Given the description of an element on the screen output the (x, y) to click on. 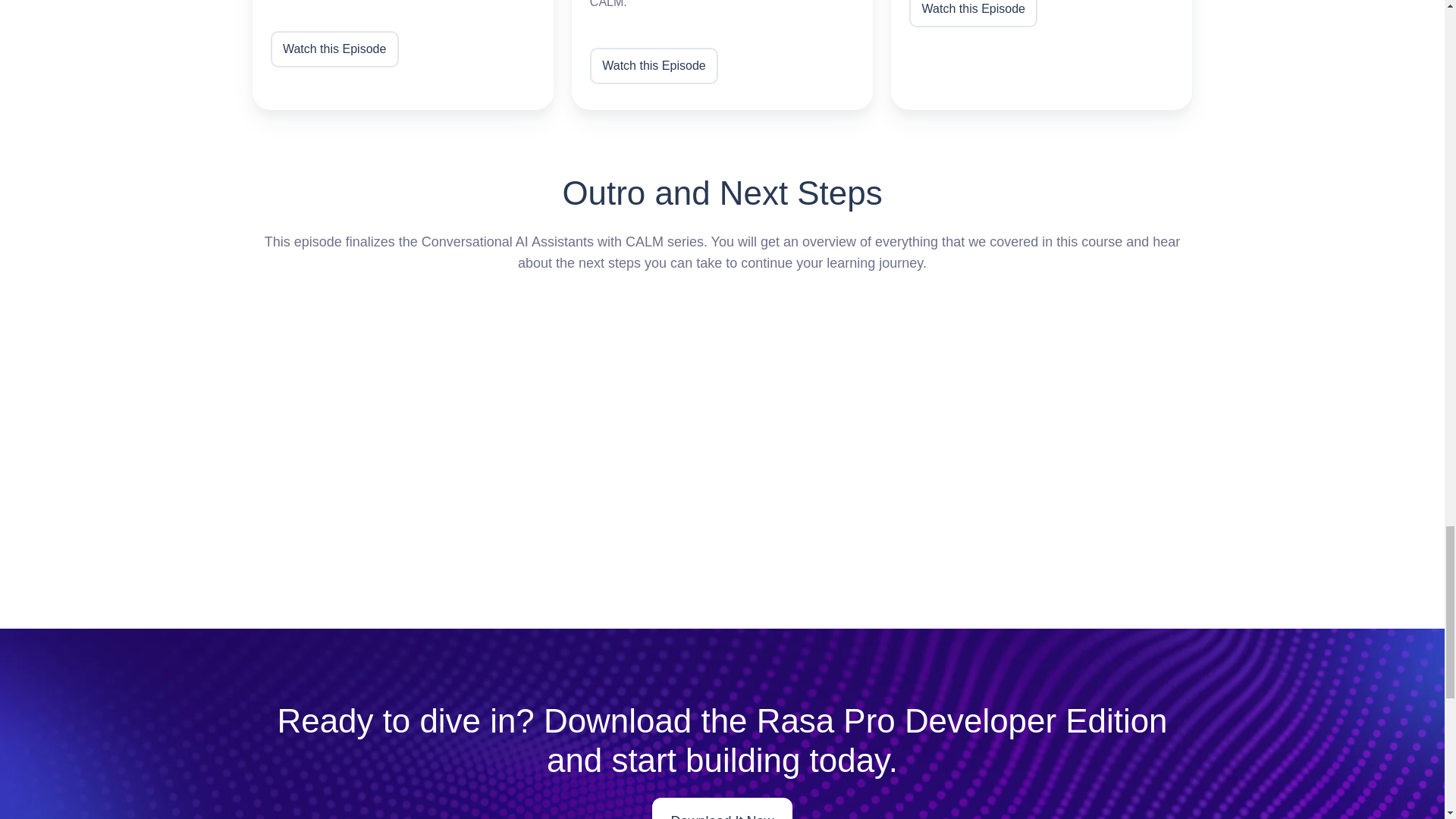
Watch this Episode (333, 49)
Watch this Episode (653, 65)
Download It Now (722, 808)
Watch this Episode (972, 13)
Running in Production (1041, 54)
Enterprise Search (722, 54)
Handling Deviations from the Happy Path (402, 54)
